Given the description of an element on the screen output the (x, y) to click on. 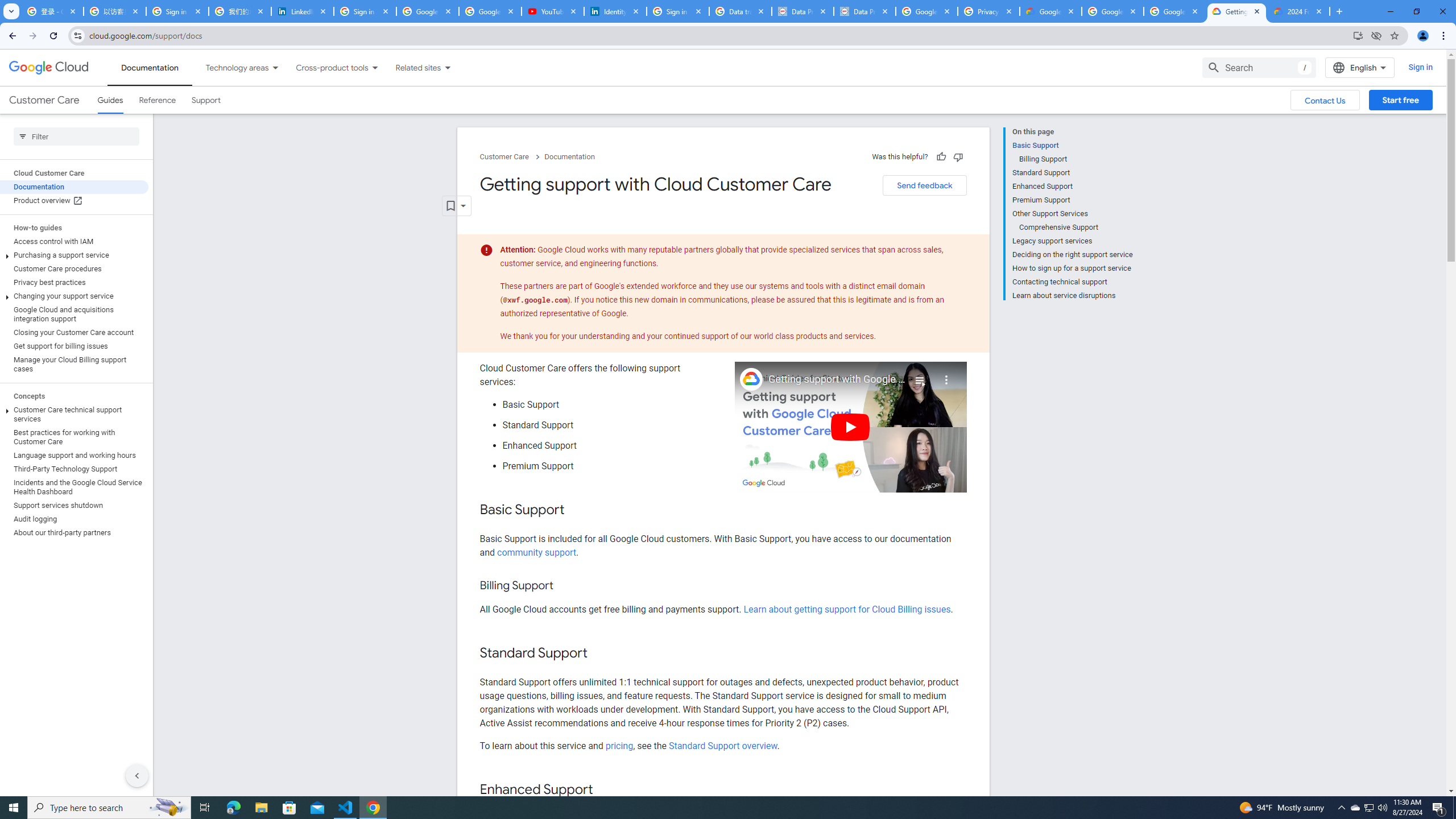
Privacy best practices (74, 282)
Getting support with Google Cloud Customer Care (837, 379)
Google Cloud (48, 67)
Copy link to this section: Billing Support (564, 585)
How to sign up for a support service (1071, 268)
Sign in - Google Accounts (177, 11)
Get support for billing issues (74, 345)
Dropdown menu for Cross-product tools (374, 67)
About our third-party partners (74, 532)
Comprehensive Support (1075, 227)
Data Privacy Framework (802, 11)
Start free (1400, 100)
